Given the description of an element on the screen output the (x, y) to click on. 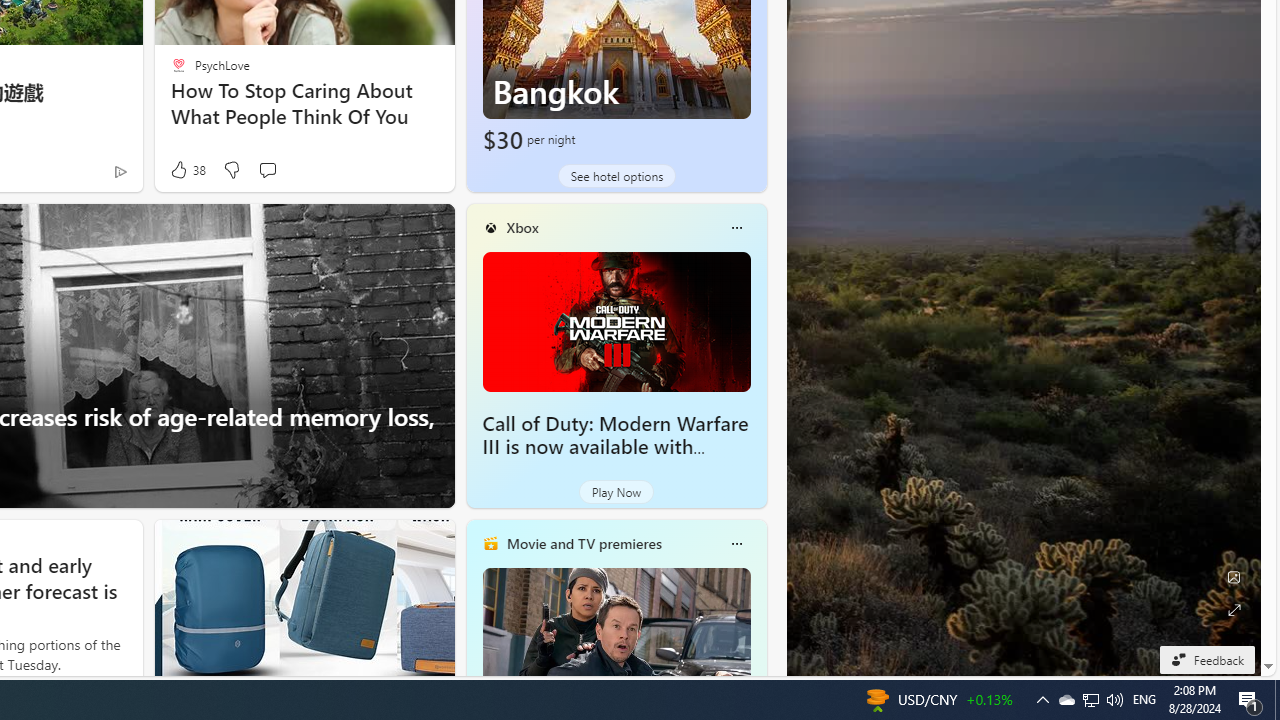
Movie and TV premieres (583, 543)
